Given the description of an element on the screen output the (x, y) to click on. 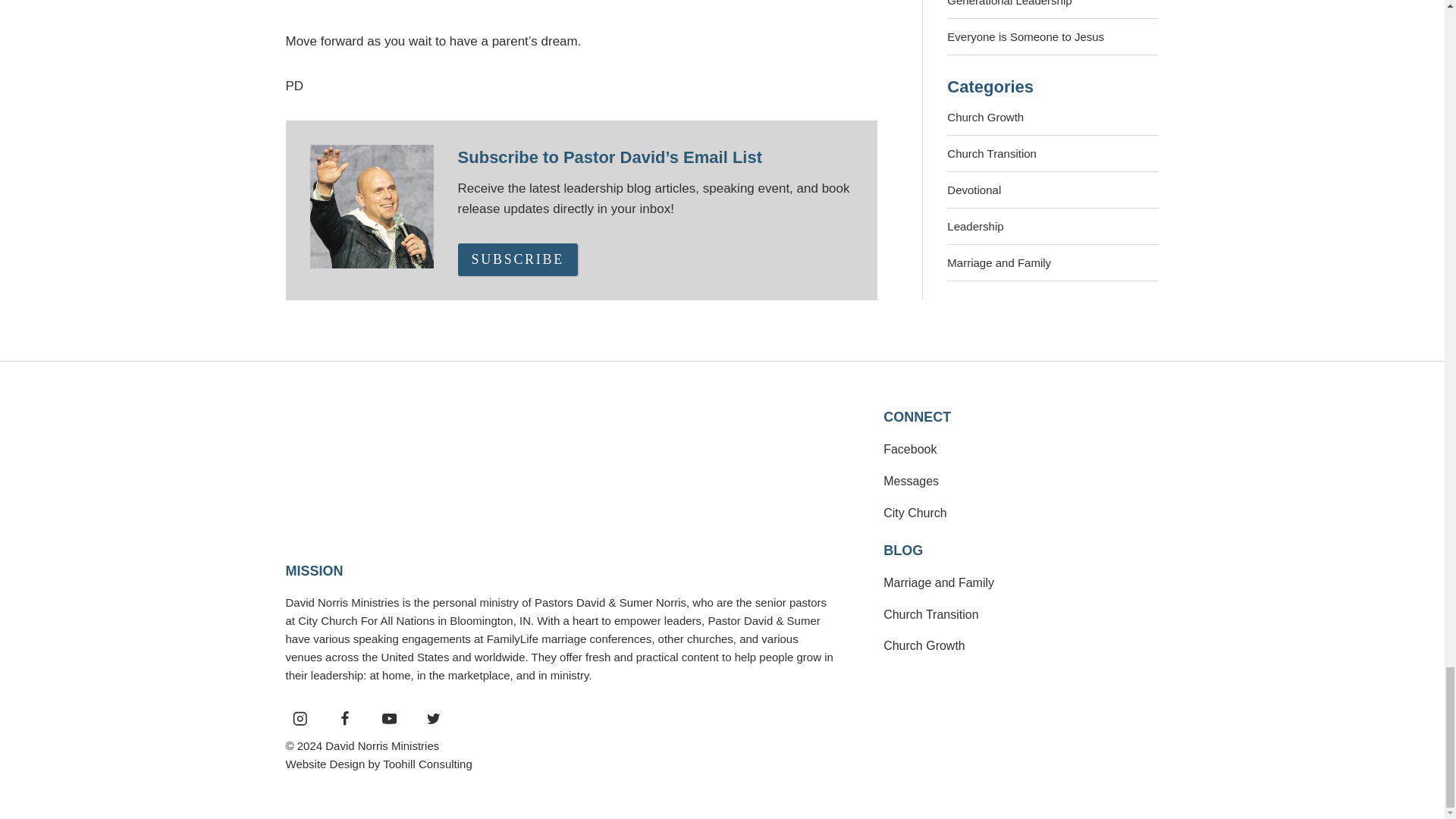
City Church (915, 512)
SUBSCRIBE (518, 259)
Toohill Consulting (426, 763)
Marriage and Family (938, 582)
Toohill Consulting (426, 763)
Church Growth (924, 645)
Facebook (909, 449)
Church Transition (930, 614)
Messages (911, 481)
